Given the description of an element on the screen output the (x, y) to click on. 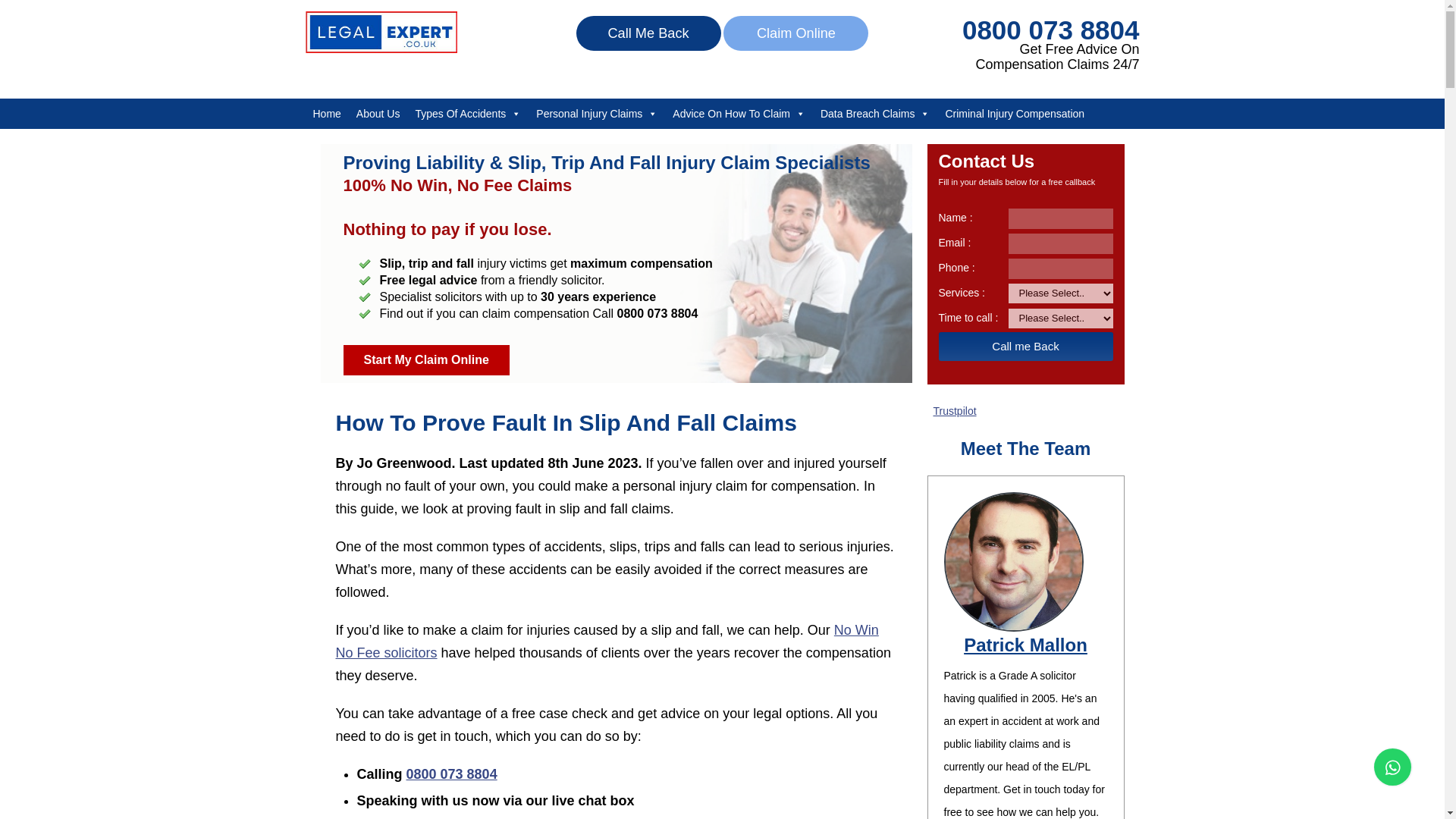
Types Of Accidents (467, 113)
Call Me Back (648, 32)
Legal Expert (380, 49)
Home (325, 113)
Patrick Mallon (1025, 644)
About Us (378, 113)
Call me Back (1026, 346)
Claim Online (795, 32)
